Given the description of an element on the screen output the (x, y) to click on. 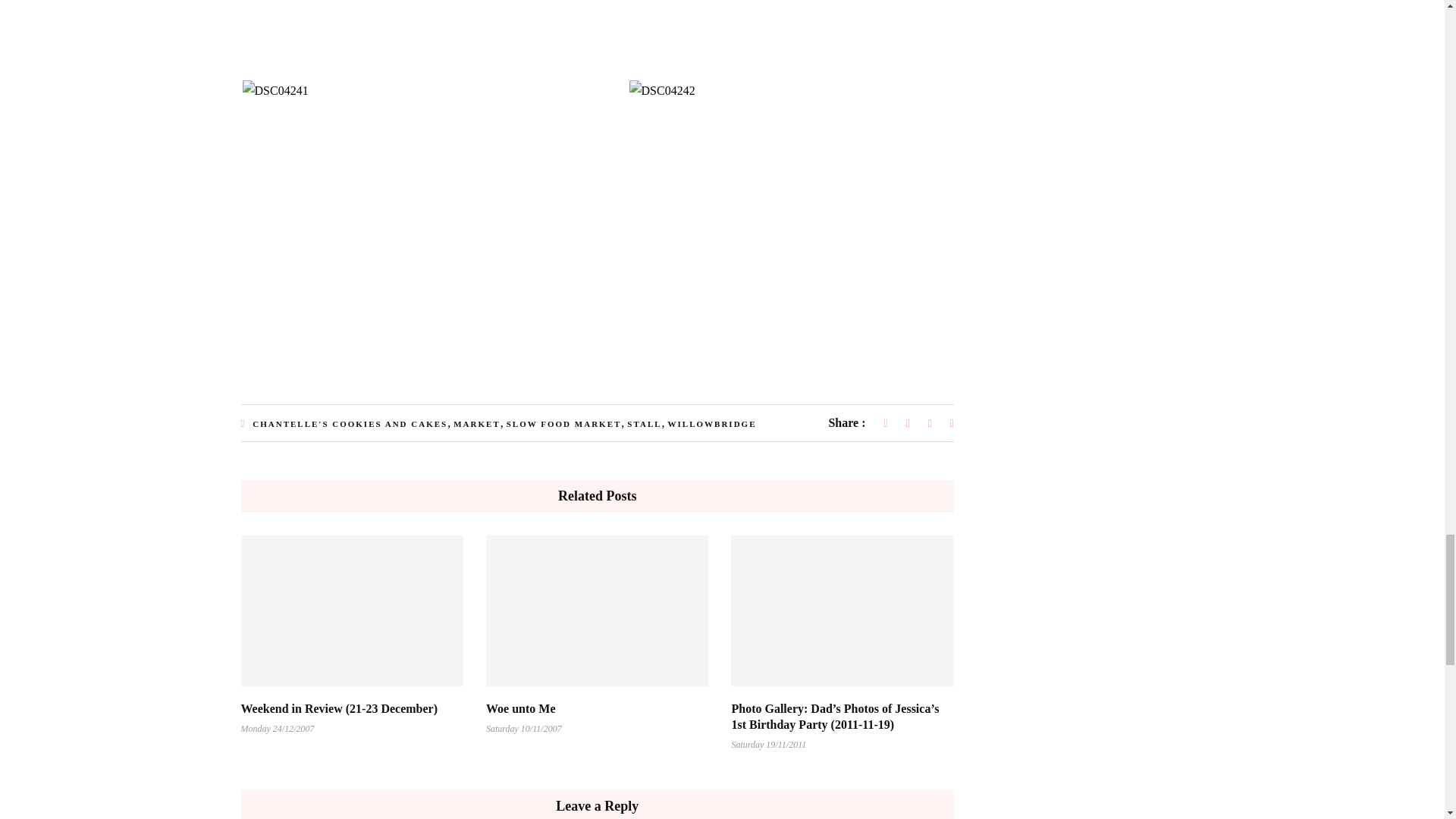
DSC04242 (661, 90)
DSC04241 (275, 90)
